Given the description of an element on the screen output the (x, y) to click on. 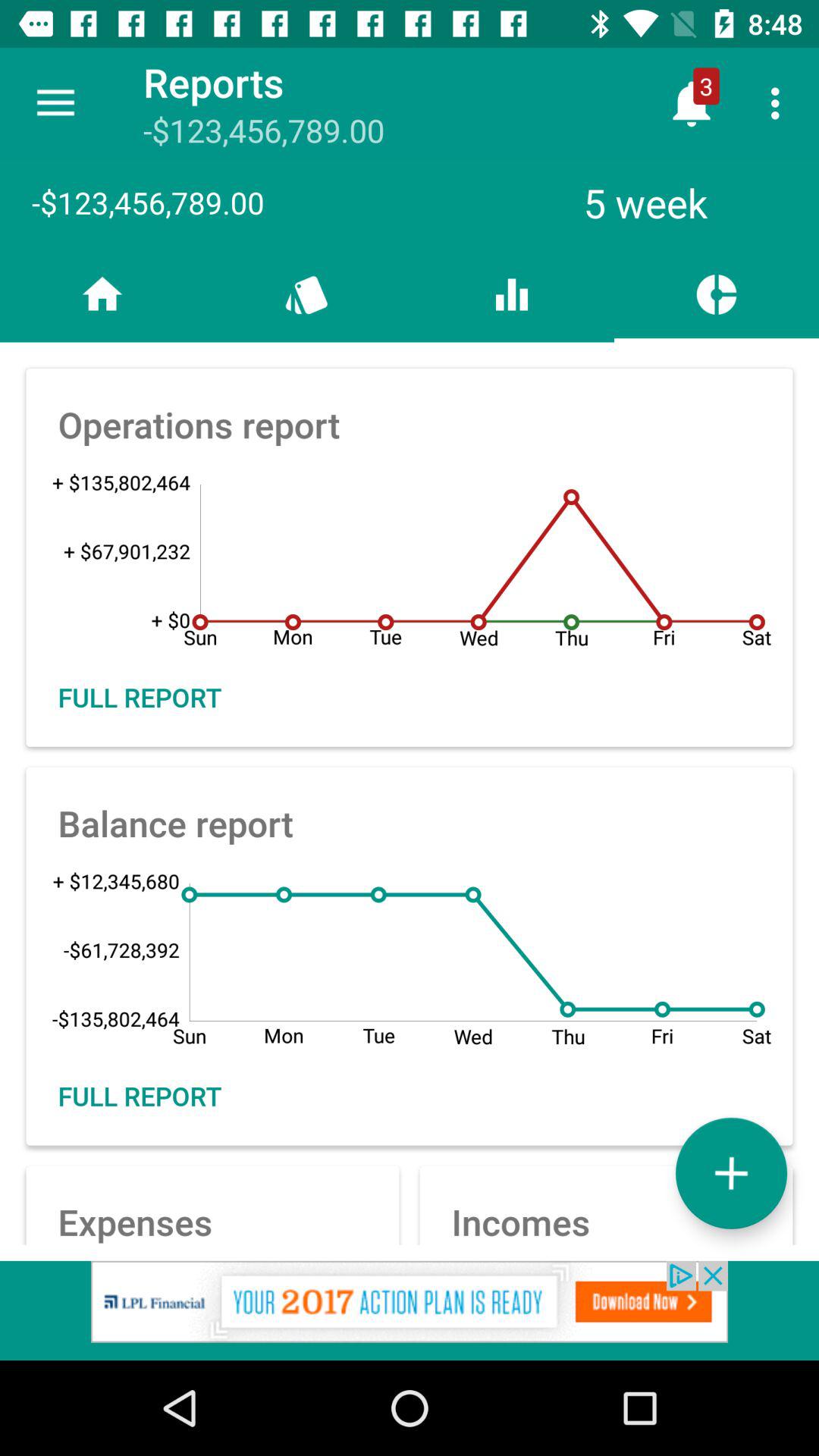
add a new item (731, 1173)
